Given the description of an element on the screen output the (x, y) to click on. 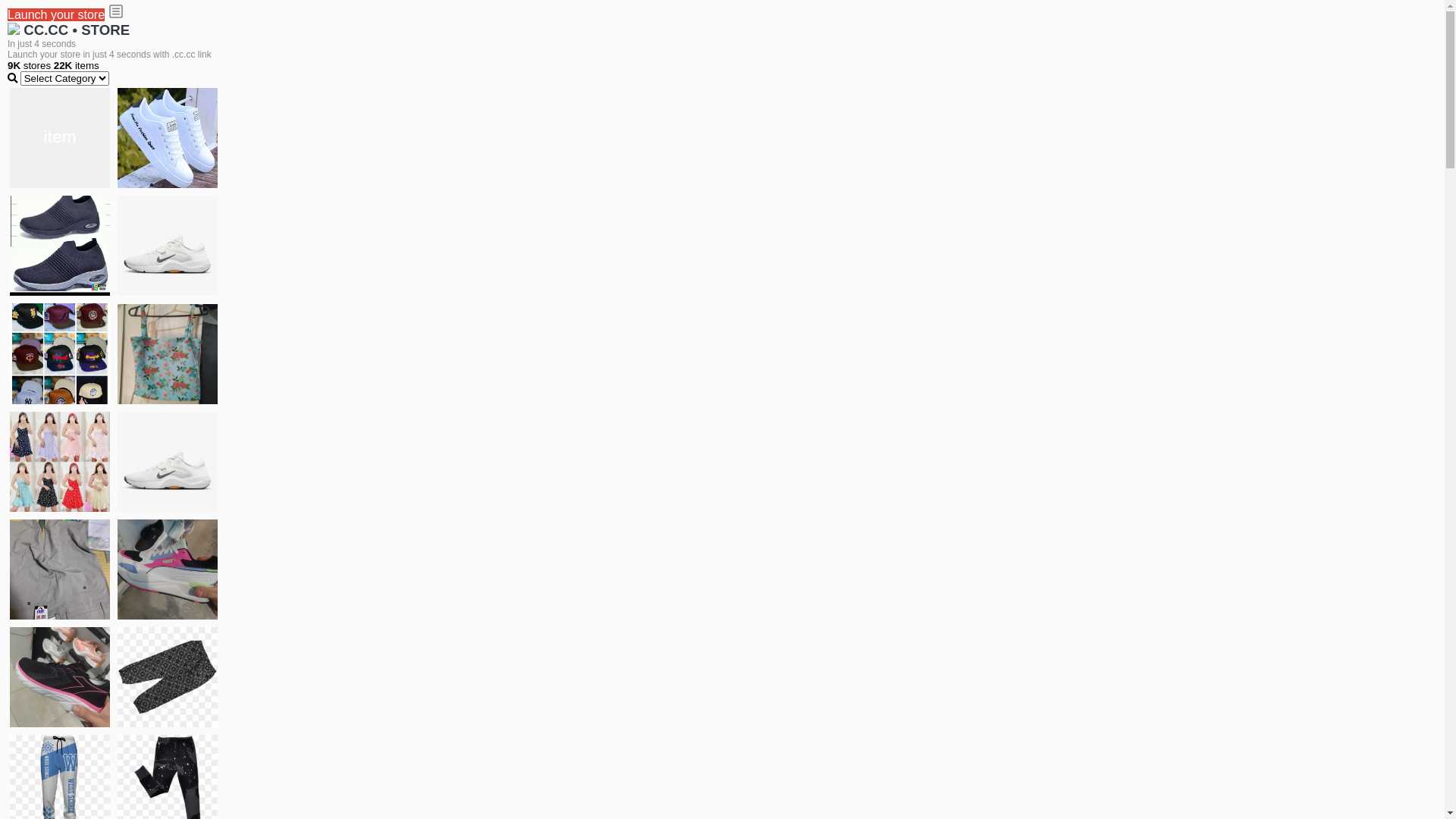
Shoes for boys Element type: hover (167, 245)
Launch your store Element type: text (55, 14)
shoes for boys Element type: hover (59, 245)
Zapatillas Element type: hover (59, 677)
Zapatillas pumas Element type: hover (167, 568)
white shoes Element type: hover (167, 137)
Things we need Element type: hover (59, 353)
Short pant Element type: hover (167, 676)
Shoes Element type: hover (167, 461)
Dress/square nect top Element type: hover (59, 461)
Ukay cloth Element type: hover (167, 353)
jacket Element type: hover (59, 137)
